Given the description of an element on the screen output the (x, y) to click on. 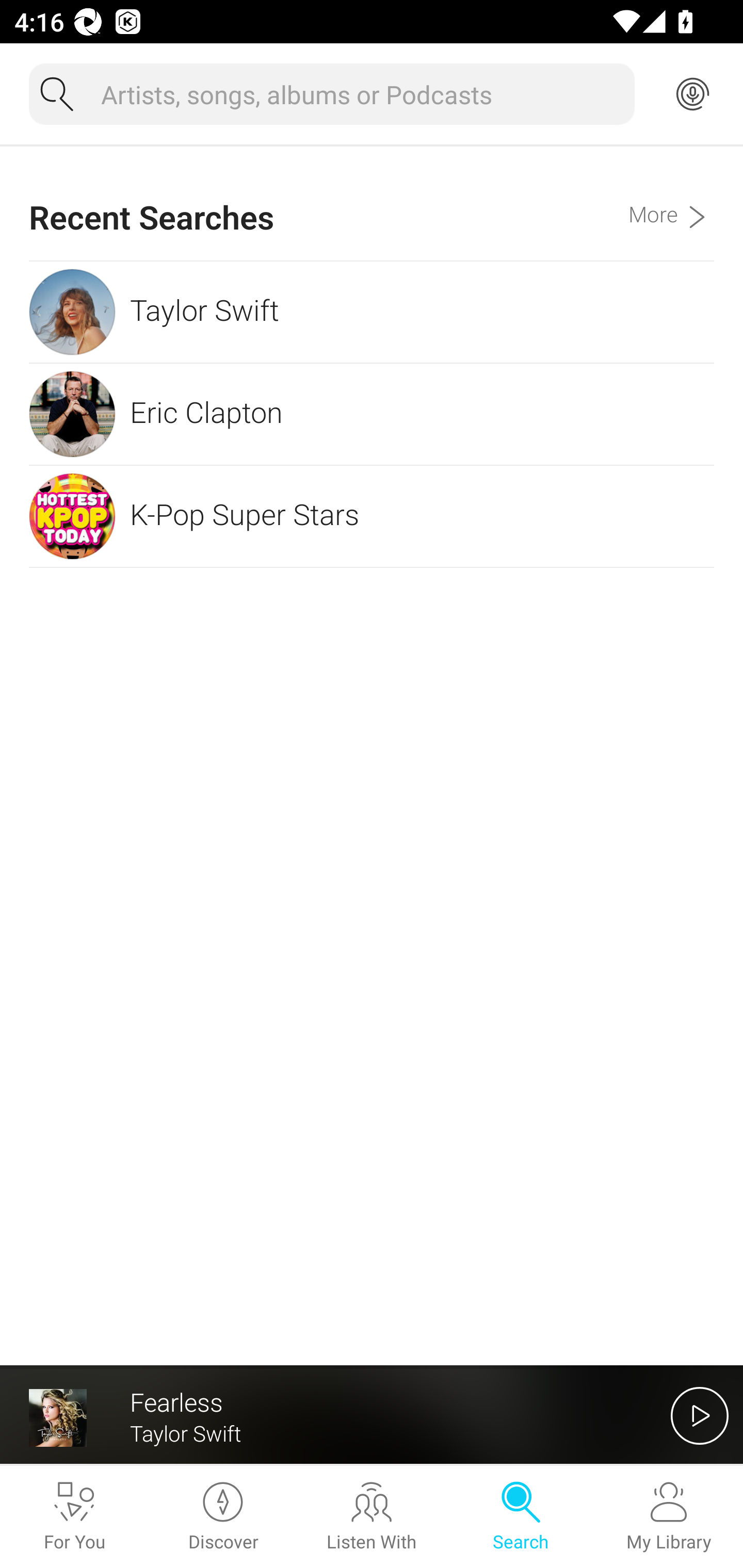
Music recognition (692, 93)
Artists, songs, albums or Podcasts (360, 93)
More Recent Searches More (671, 202)
Taylor Swift (371, 311)
Eric Clapton (371, 413)
K-Pop Super Stars (371, 516)
開始播放 (699, 1415)
For You (74, 1517)
Discover (222, 1517)
Listen With (371, 1517)
Search (519, 1517)
My Library (668, 1517)
